Given the description of an element on the screen output the (x, y) to click on. 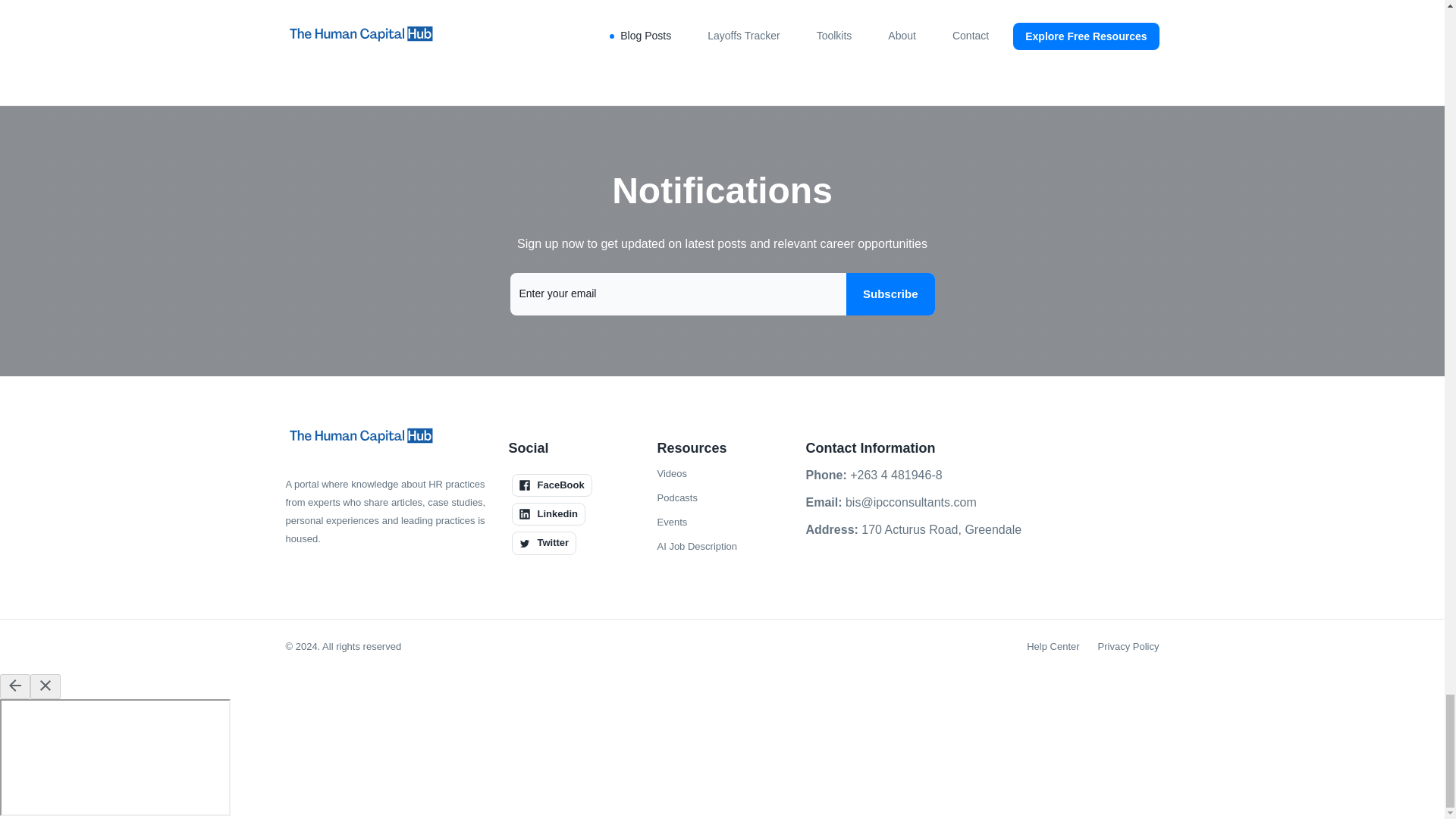
Privacy Policy (1127, 647)
Podcasts (676, 497)
Events (671, 522)
Help Center (1052, 647)
Twitter (543, 542)
Linkedin (548, 513)
AI Job Description (696, 546)
Subscribe (889, 293)
FaceBook (551, 485)
Videos (671, 474)
